Given the description of an element on the screen output the (x, y) to click on. 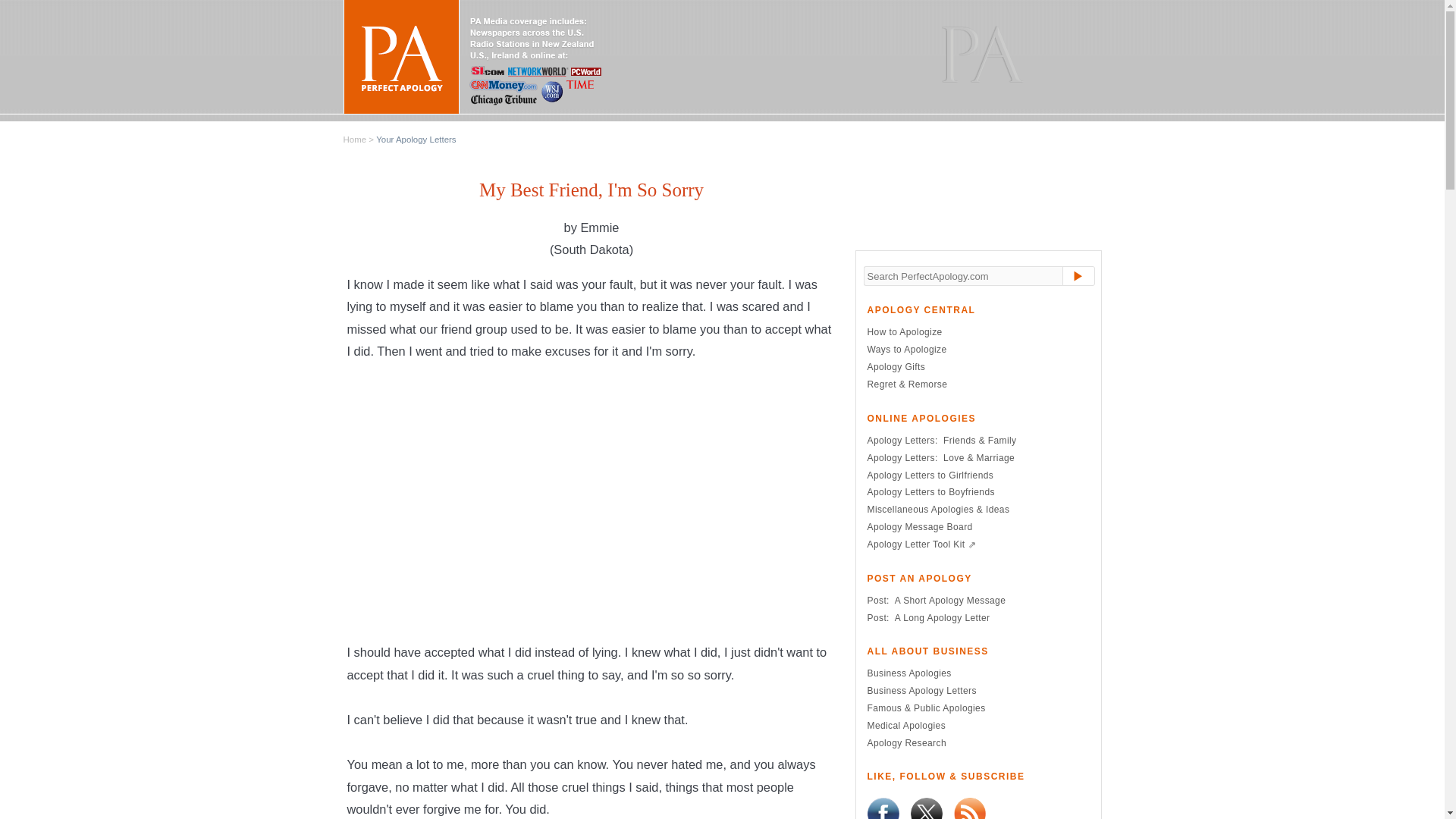
Apology Gifts (890, 366)
Post:  A Short Apology Message (931, 600)
How to Apologize (899, 331)
Apology Letters to Boyfriends (925, 491)
Business Apologies (903, 673)
Business Apology Letters (915, 690)
Advertisement (591, 504)
Medical Apologies (900, 725)
Post:  A Long Apology Letter (923, 617)
Ways to Apologize (901, 348)
